Given the description of an element on the screen output the (x, y) to click on. 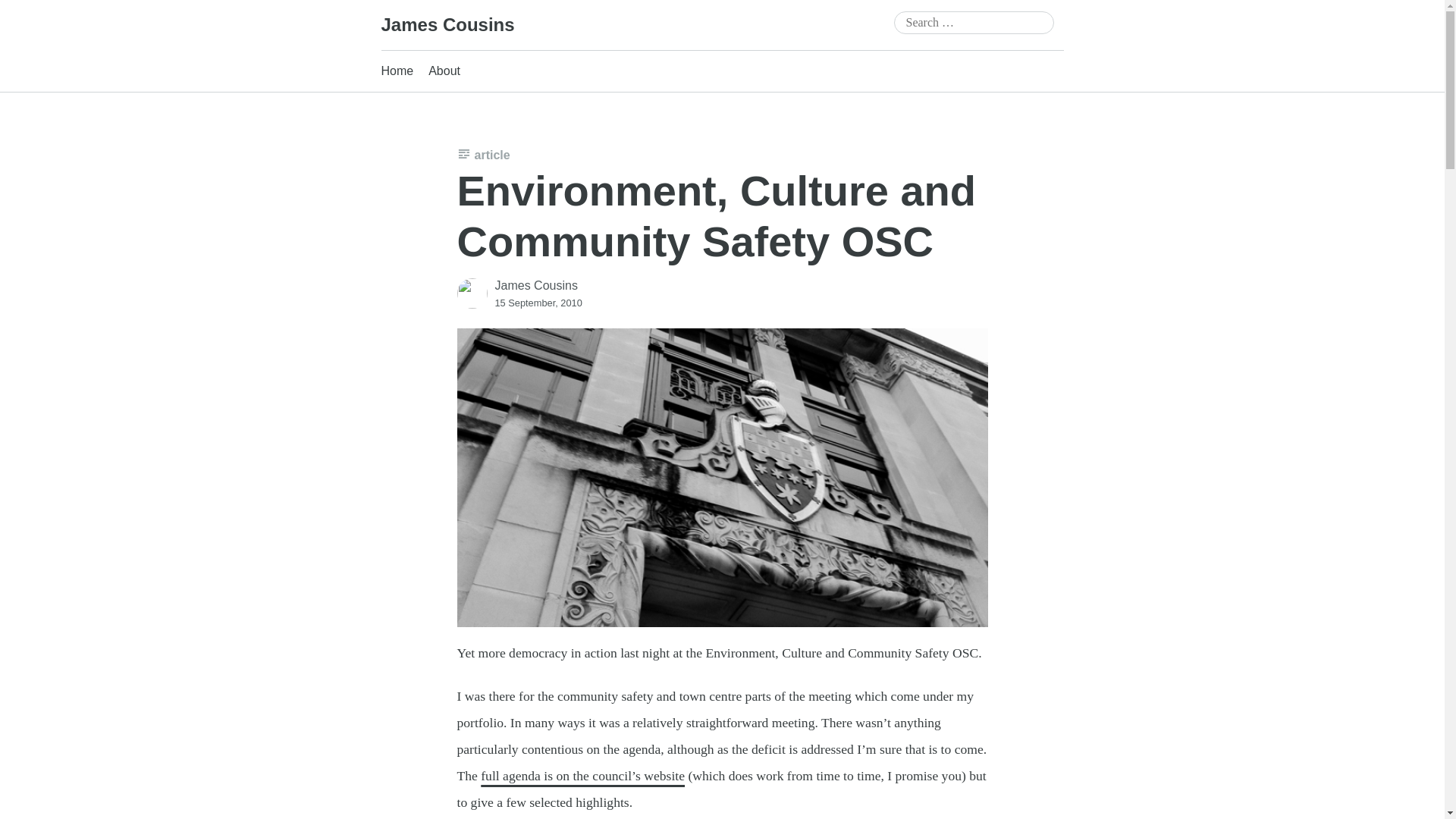
Environment, Culture and Community Safety OSC (716, 216)
15 September, 2010 (537, 301)
Search (32, 14)
James Cousins (535, 285)
James Cousins (446, 24)
Search (25, 11)
About (444, 70)
Home (396, 70)
article (483, 154)
